Given the description of an element on the screen output the (x, y) to click on. 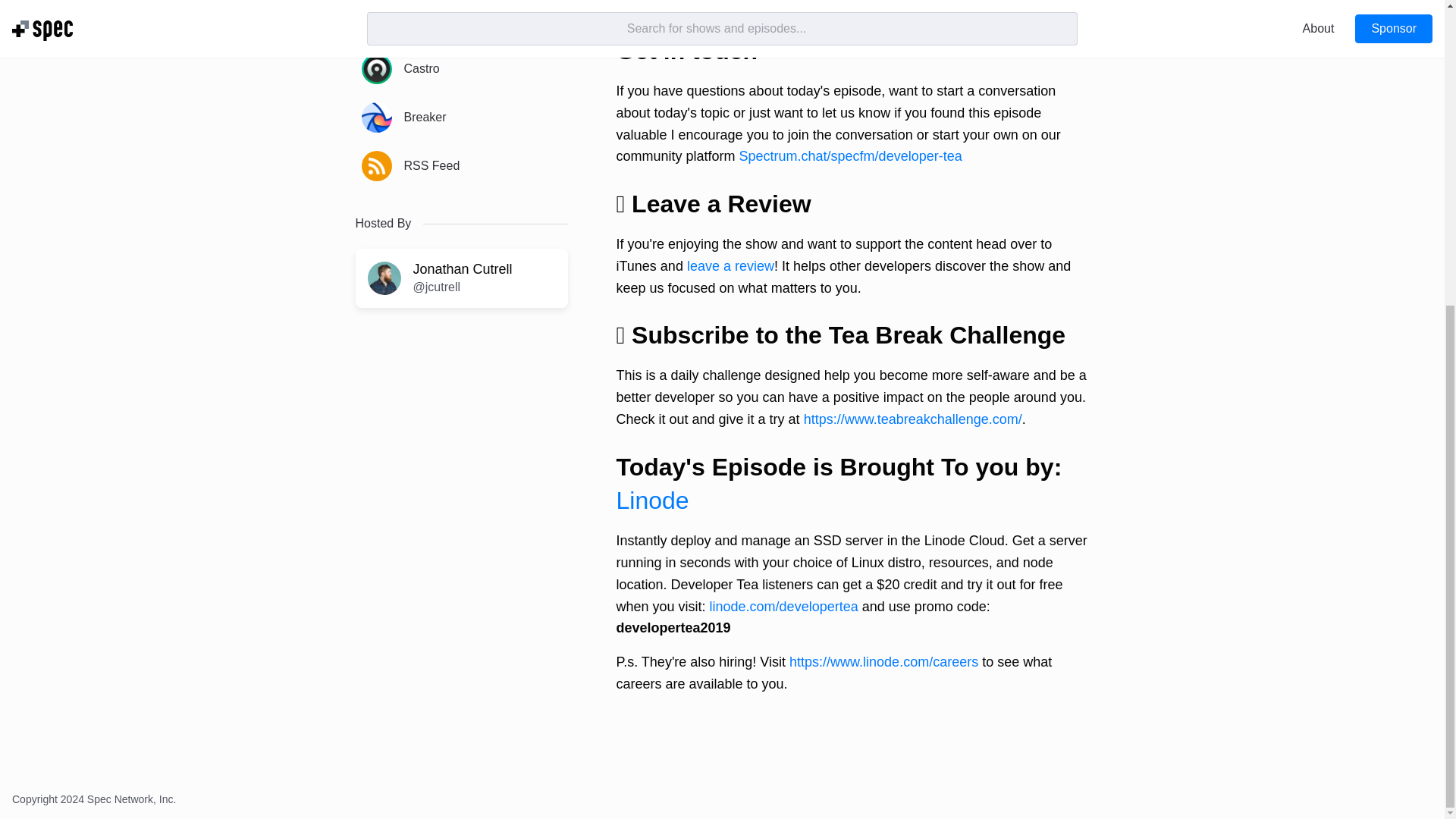
Breaker (461, 117)
Google Podcasts (461, 20)
RSS Feed (461, 165)
leave a review (730, 265)
Castro (461, 68)
Linode (651, 500)
